Given the description of an element on the screen output the (x, y) to click on. 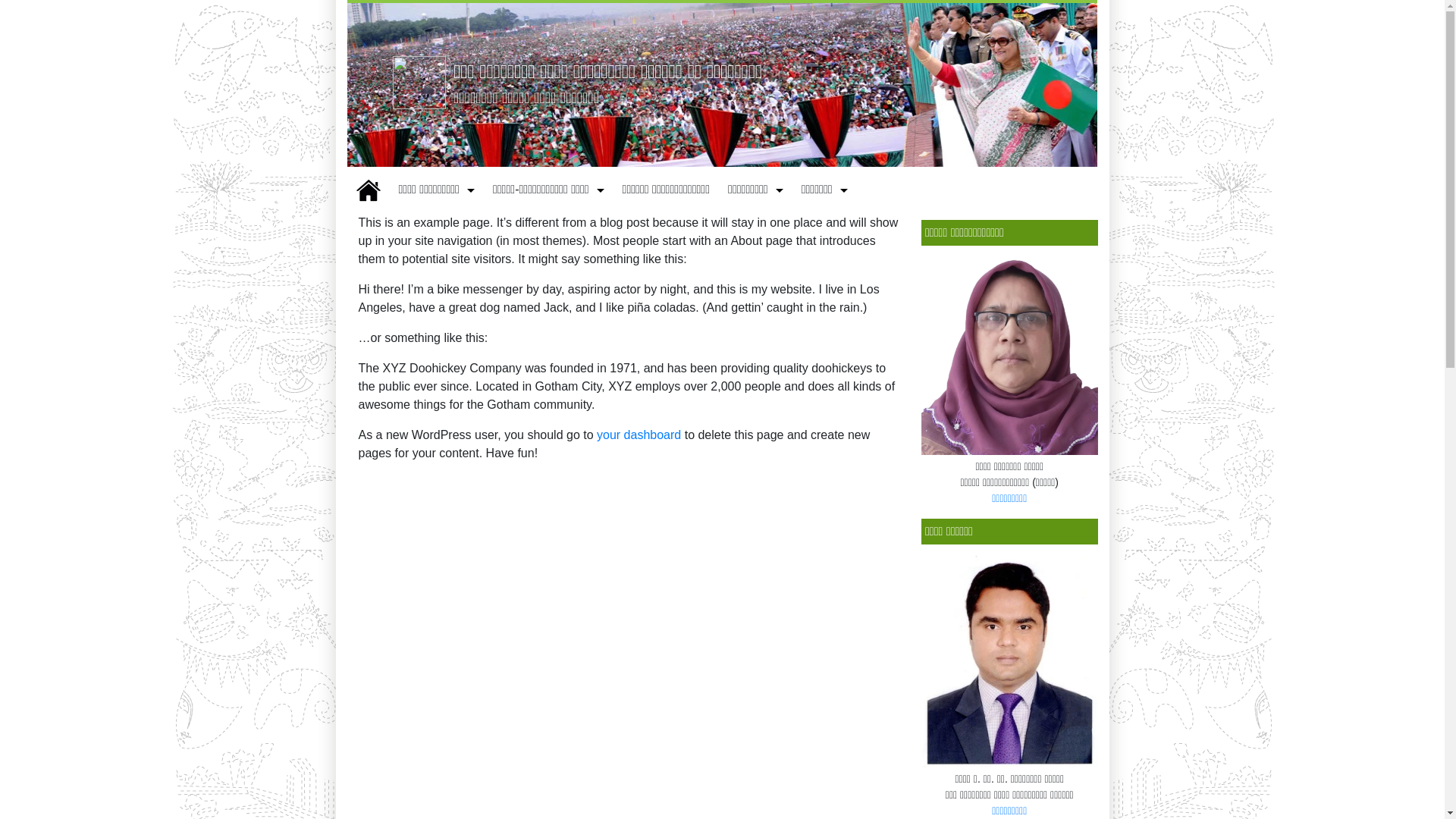
your dashboard Element type: text (638, 434)
